Given the description of an element on the screen output the (x, y) to click on. 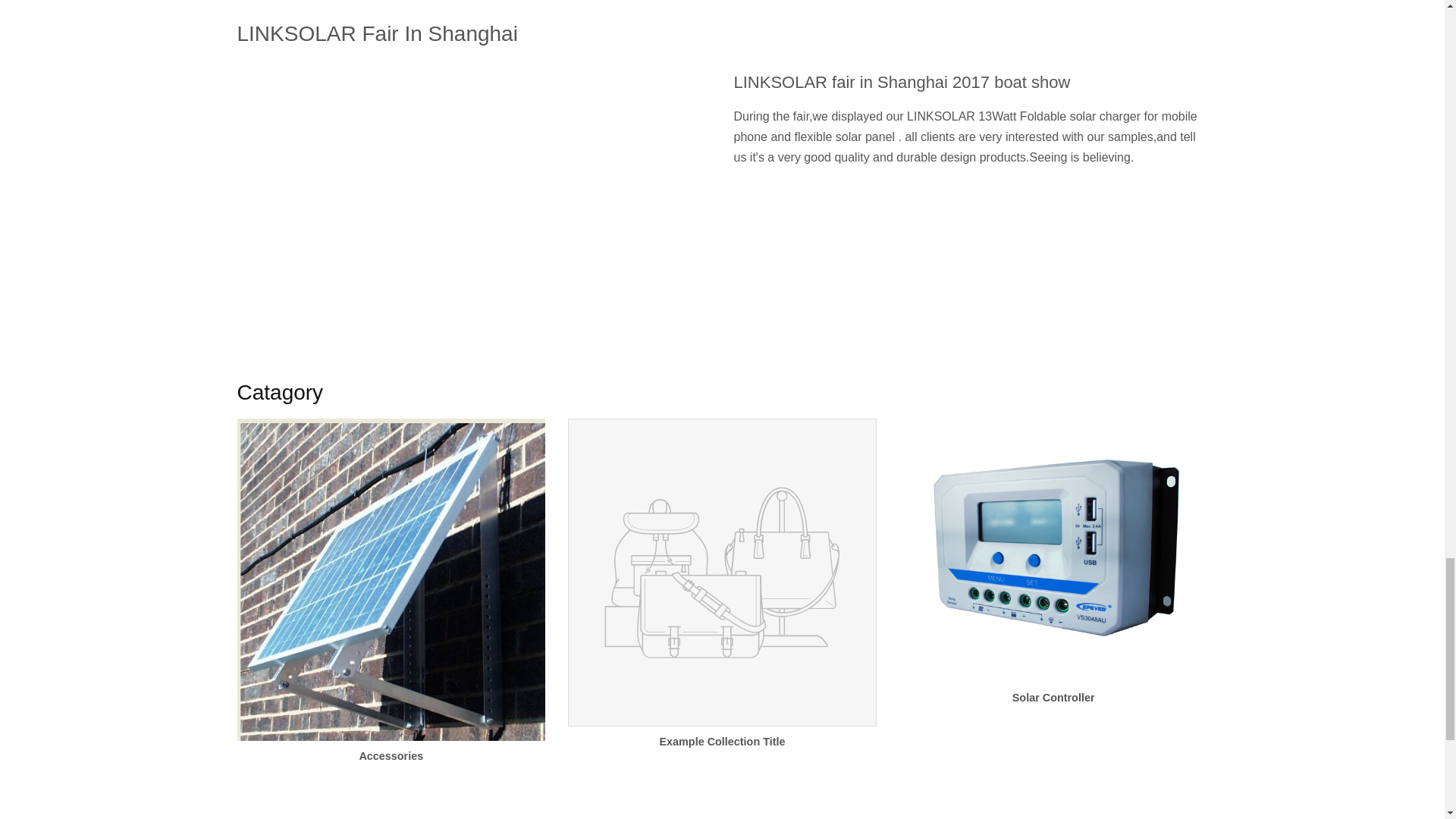
Example Collection Title (721, 597)
Accessories (389, 604)
Browse our Accessories collection (389, 604)
Browse our Solar Controller collection (1053, 575)
Browse our Example Collection Title collection (721, 597)
